Given the description of an element on the screen output the (x, y) to click on. 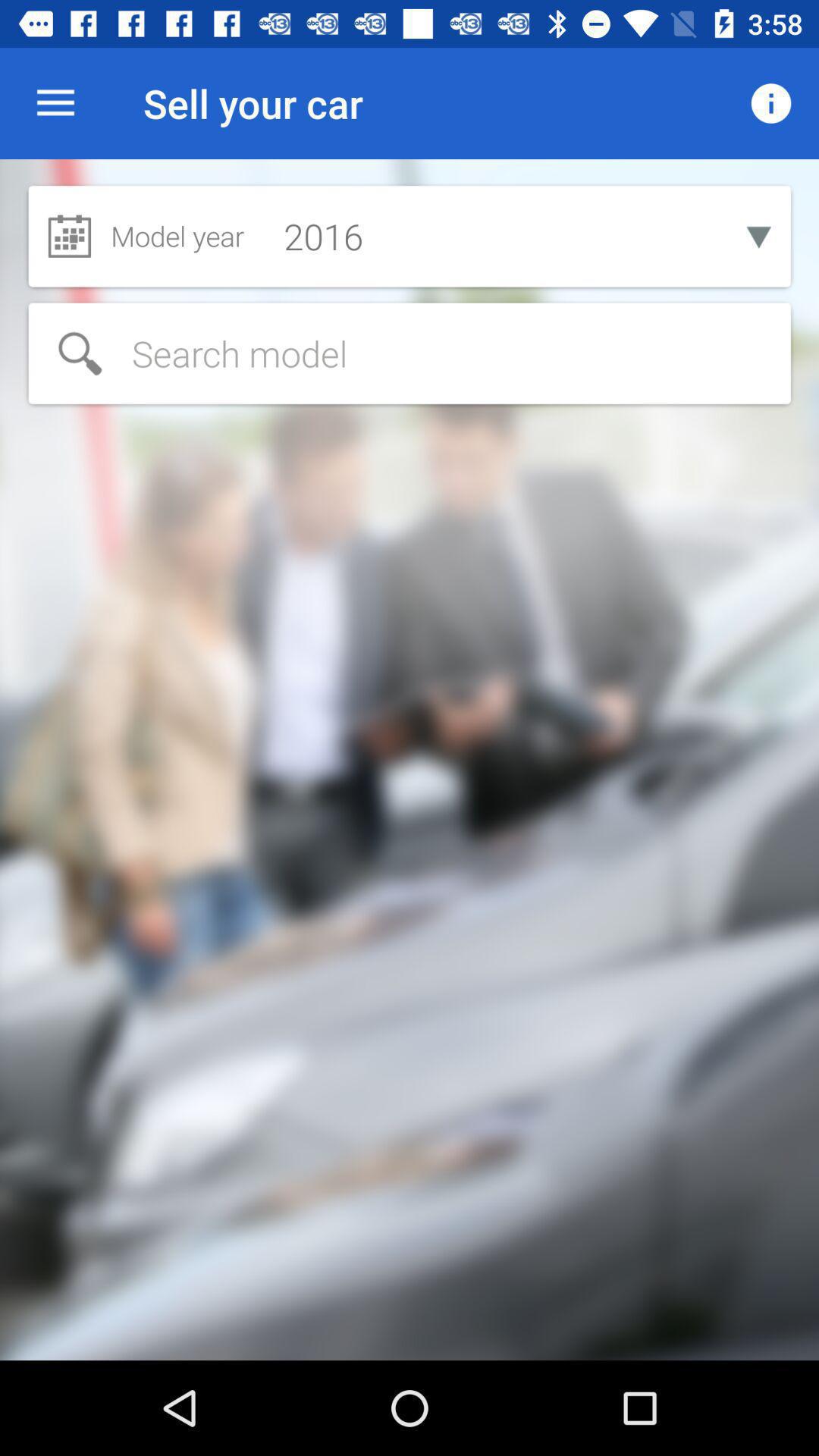
click the item to the right of the sell your car item (771, 103)
